Given the description of an element on the screen output the (x, y) to click on. 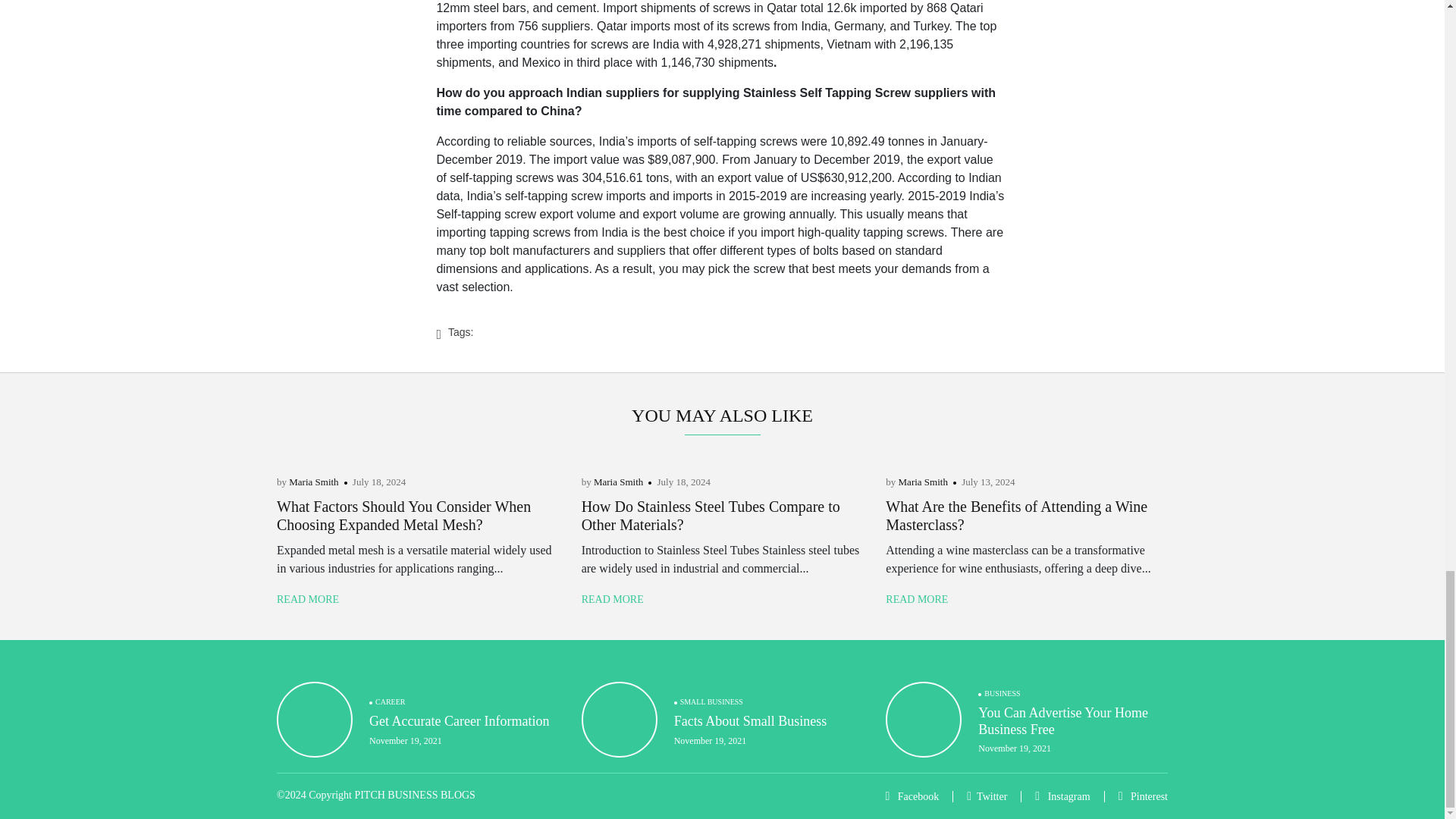
How Do Stainless Steel Tubes Compare to Other Materials? (710, 515)
How Do Stainless Steel Tubes Compare to Other Materials? (710, 515)
READ MORE (611, 599)
READ MORE (307, 599)
What Are the Benefits of Attending a Wine Masterclass? (1016, 515)
